Given the description of an element on the screen output the (x, y) to click on. 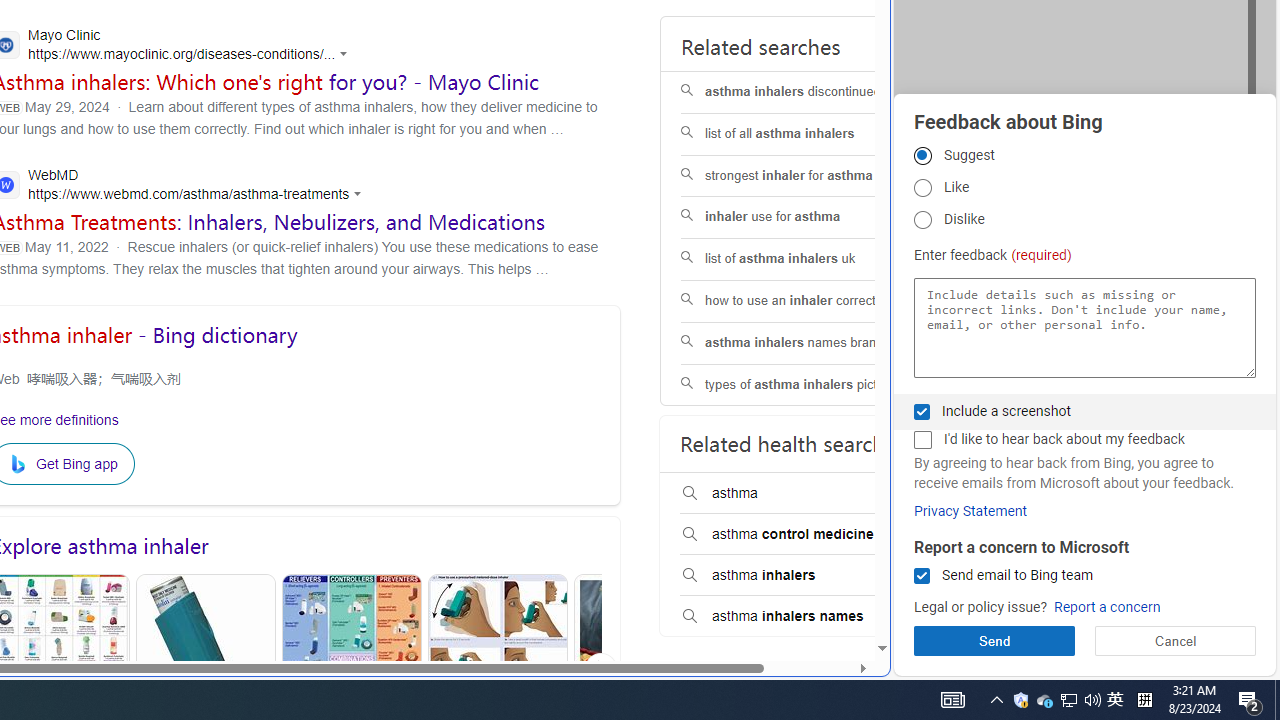
Send email to Bing team (921, 575)
Search more (836, 588)
inhaler use for asthma (807, 218)
asthma inhalers names brands (807, 342)
strongest inhaler for asthma (807, 175)
asthma control medicine (807, 534)
Send (994, 640)
